Given the description of an element on the screen output the (x, y) to click on. 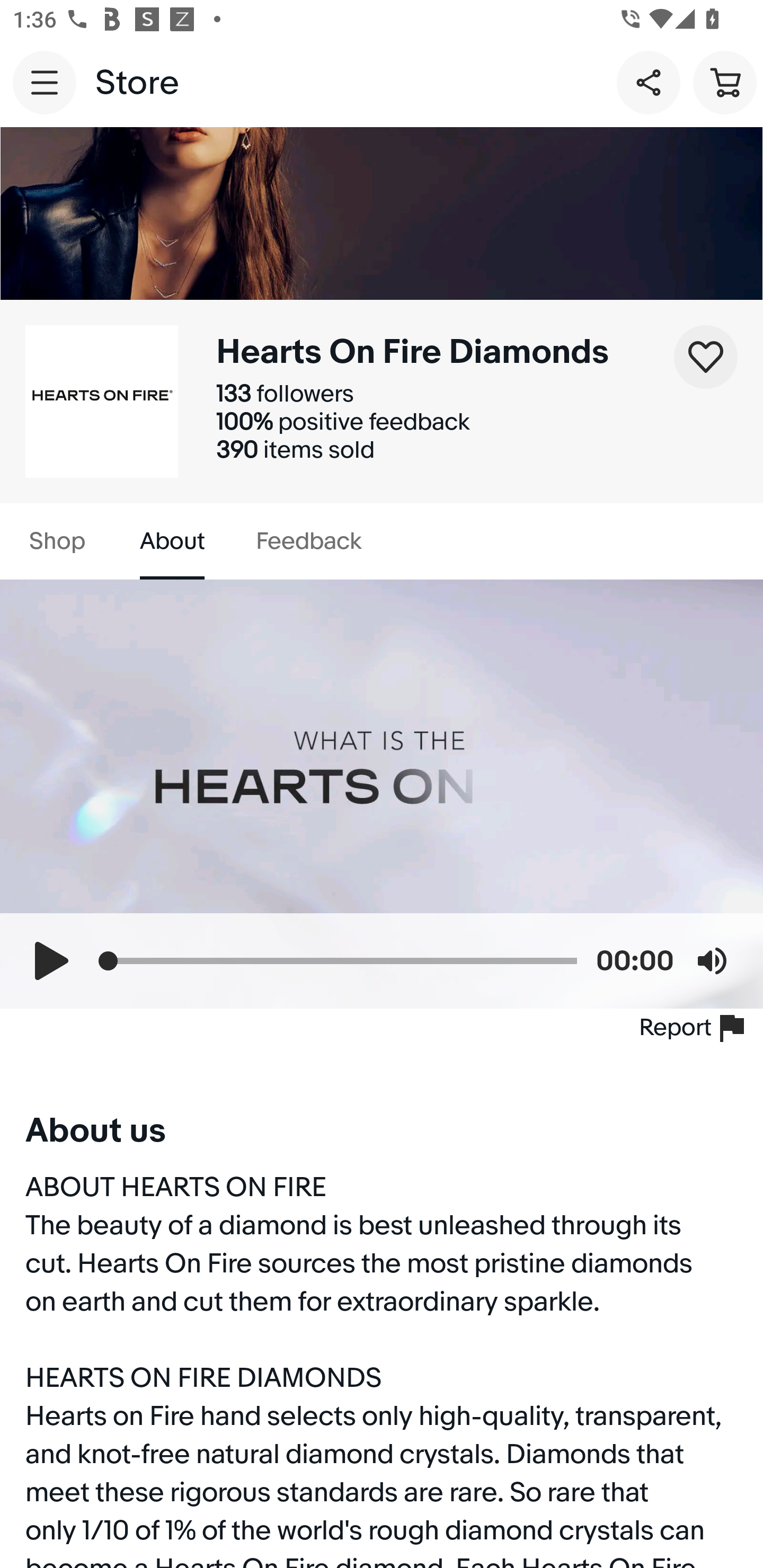
Main navigation, open (44, 82)
Share this page (648, 81)
Cart button shopping cart (724, 81)
Save this seller hearts_on_fire (705, 356)
Shop (57, 541)
Feedback (308, 541)
Play (50, 960)
mute audio (711, 960)
Report (694, 1027)
